Given the description of an element on the screen output the (x, y) to click on. 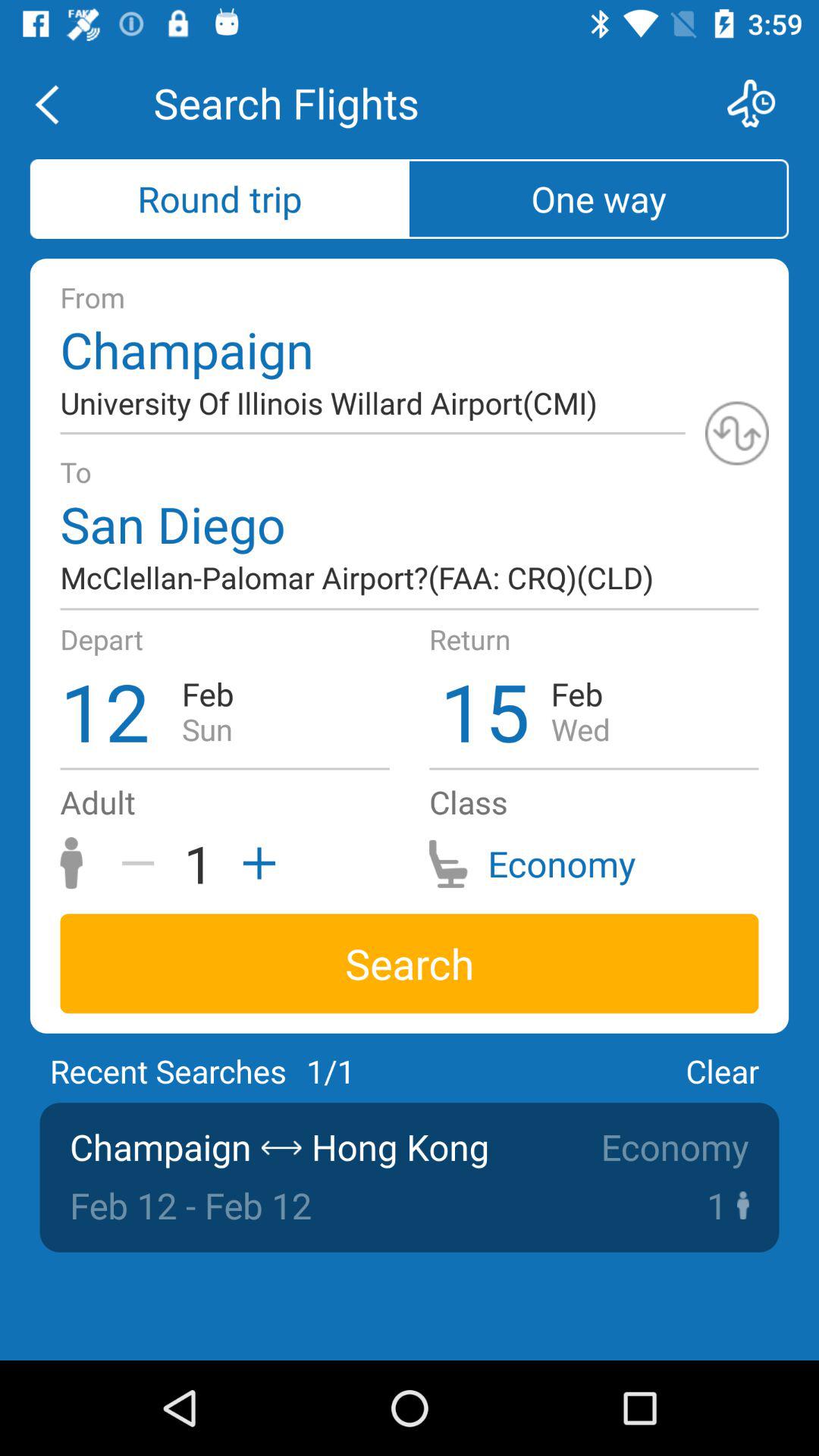
click icon above san diego icon (736, 433)
